Given the description of an element on the screen output the (x, y) to click on. 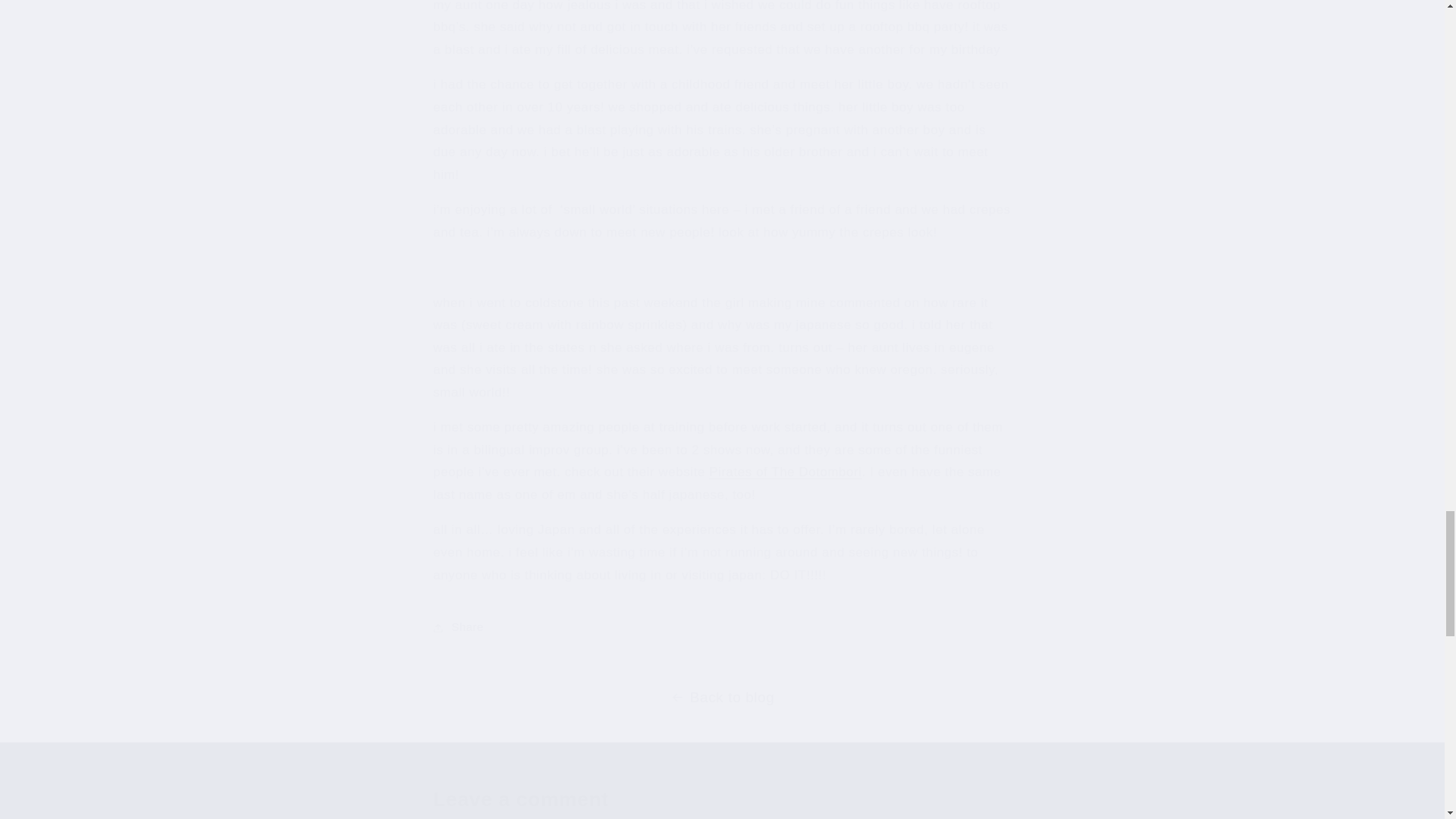
Share (721, 627)
